Given the description of an element on the screen output the (x, y) to click on. 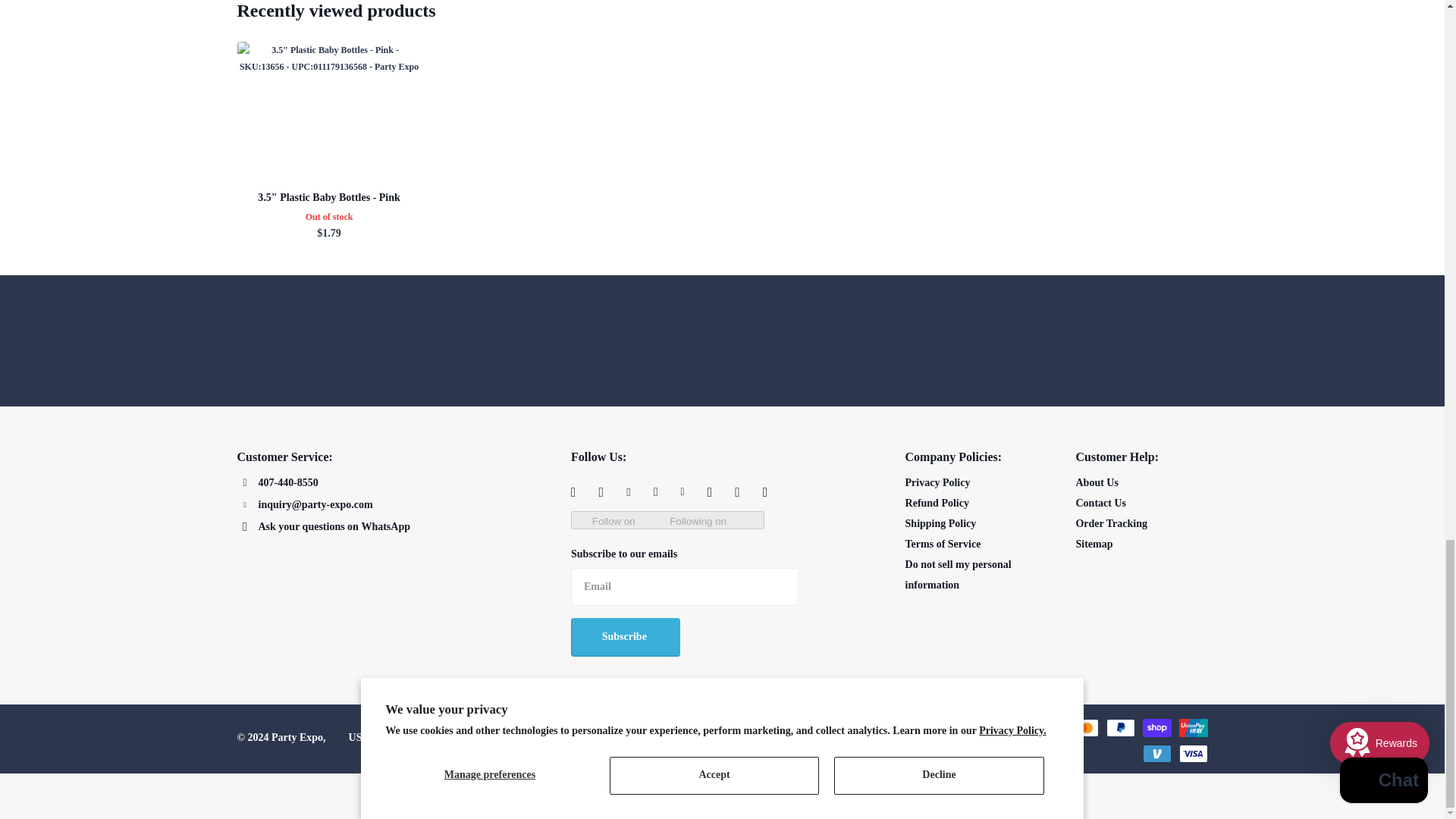
American Express (791, 728)
About Us (1096, 482)
Order Tracking (1111, 523)
Refund Policy (937, 502)
Visa (1192, 753)
Terms of Service (943, 543)
JCB (1010, 728)
Do not sell my personal information (958, 574)
Union Pay (1192, 728)
Maestro (1046, 728)
Discover (900, 728)
PayPal (1119, 728)
Diners Club (864, 728)
Venmo (1155, 753)
Apple Pay (828, 728)
